Given the description of an element on the screen output the (x, y) to click on. 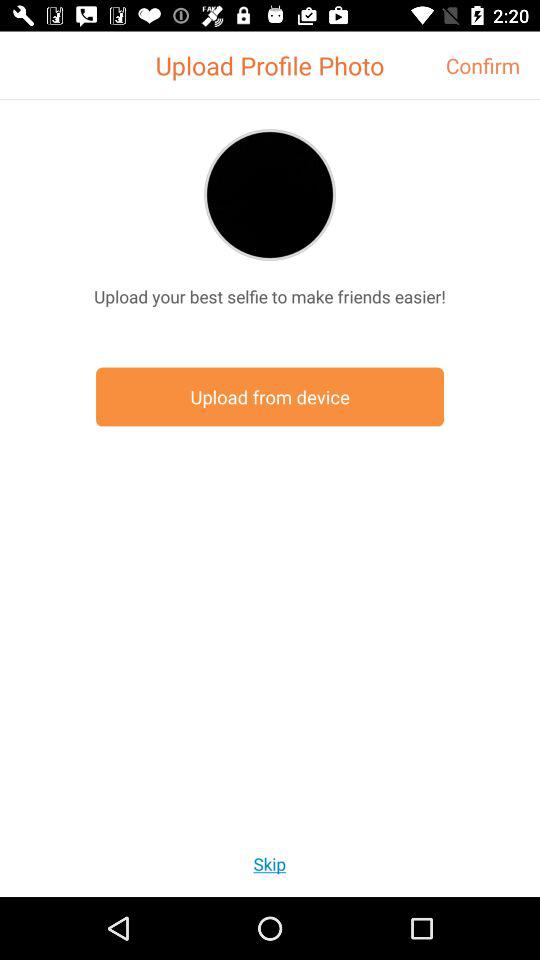
upload a profile photo (269, 194)
